Given the description of an element on the screen output the (x, y) to click on. 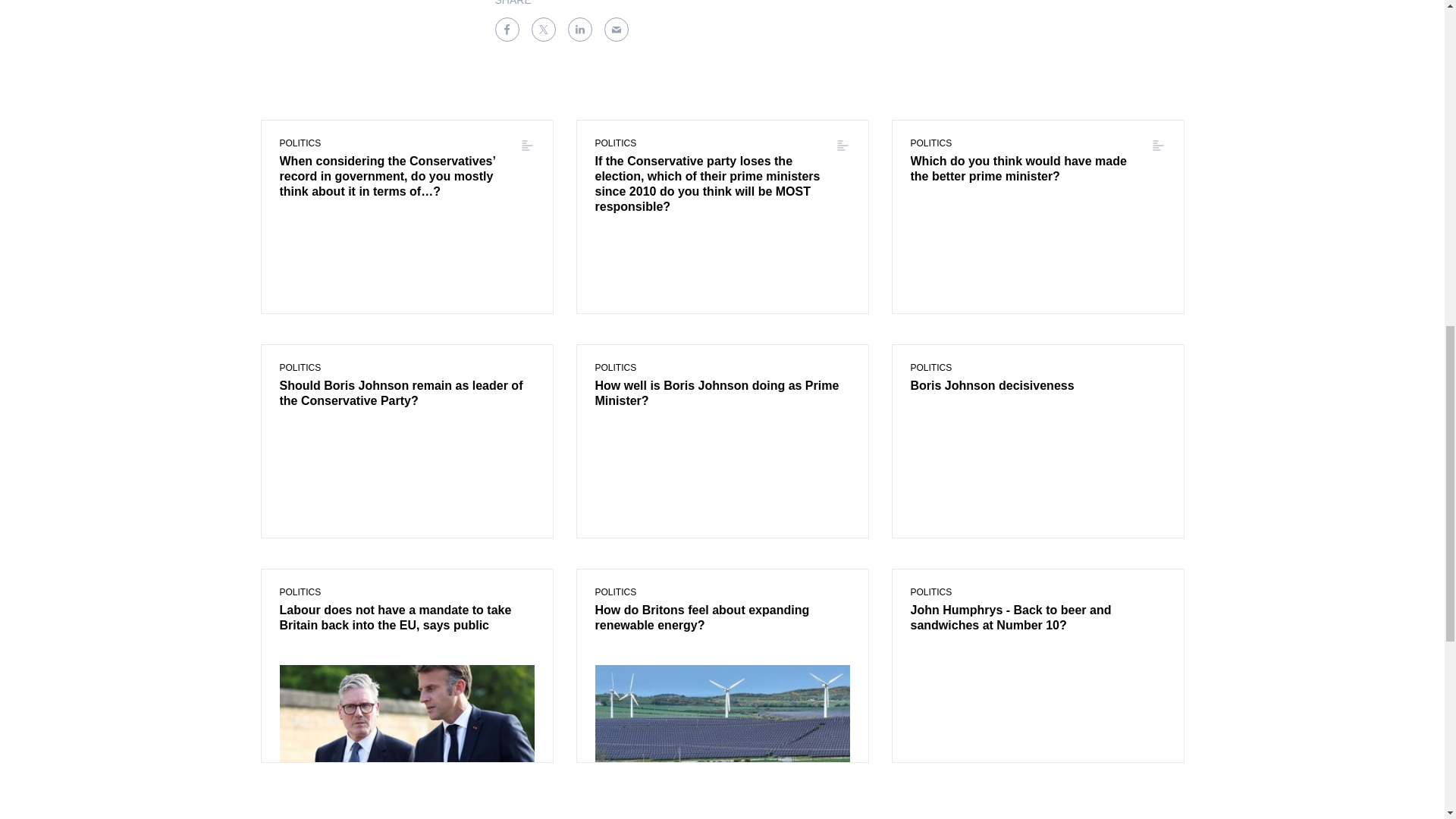
How well is Boris Johnson doing as Prime Minister? (721, 394)
John Humphrys - Back to beer and sandwiches at Number 10? (1037, 618)
How do Britons feel about expanding renewable energy? (721, 618)
Boris Johnson decisiveness (1037, 386)
